Given the description of an element on the screen output the (x, y) to click on. 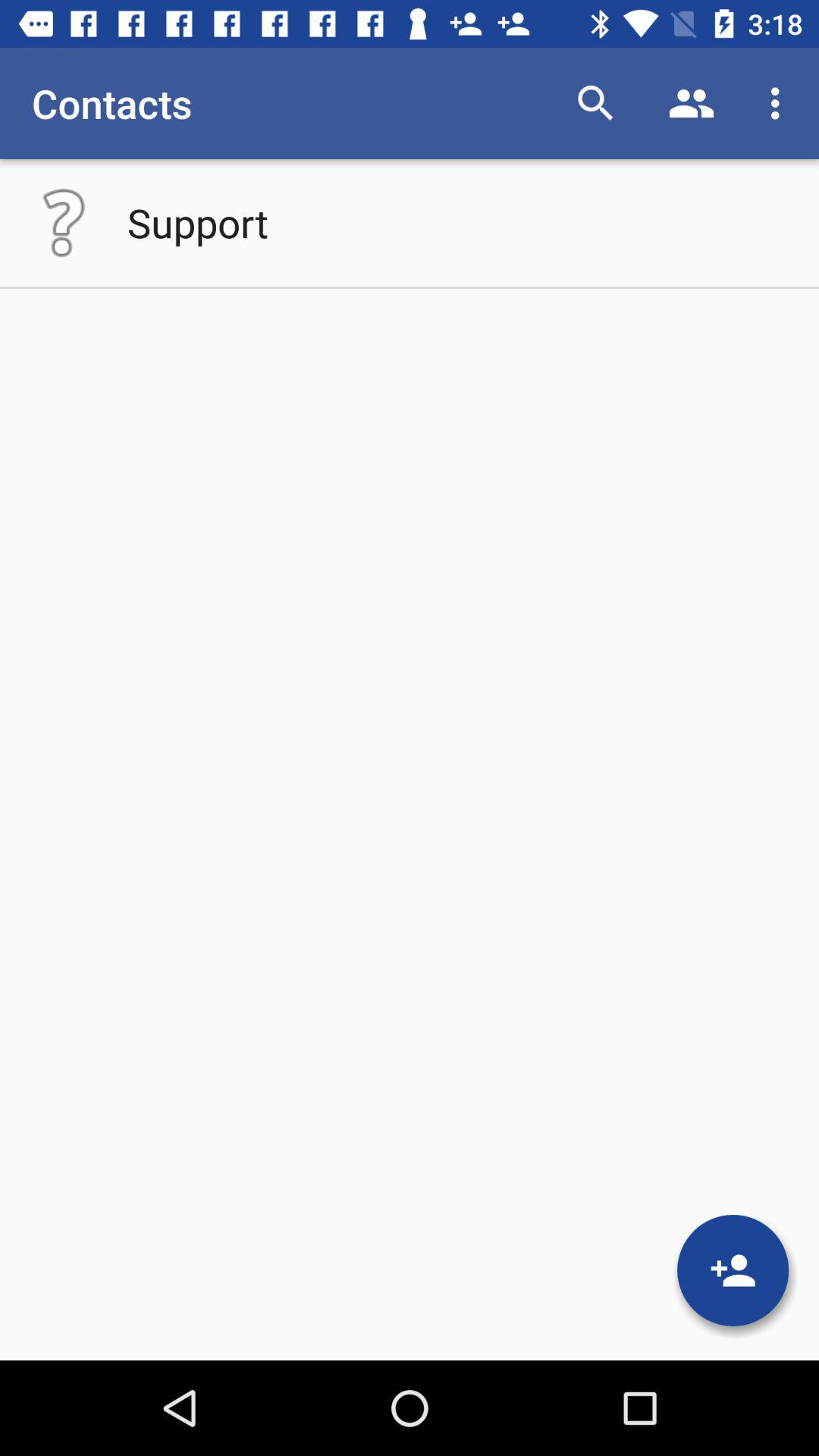
jump to support app (197, 222)
